Given the description of an element on the screen output the (x, y) to click on. 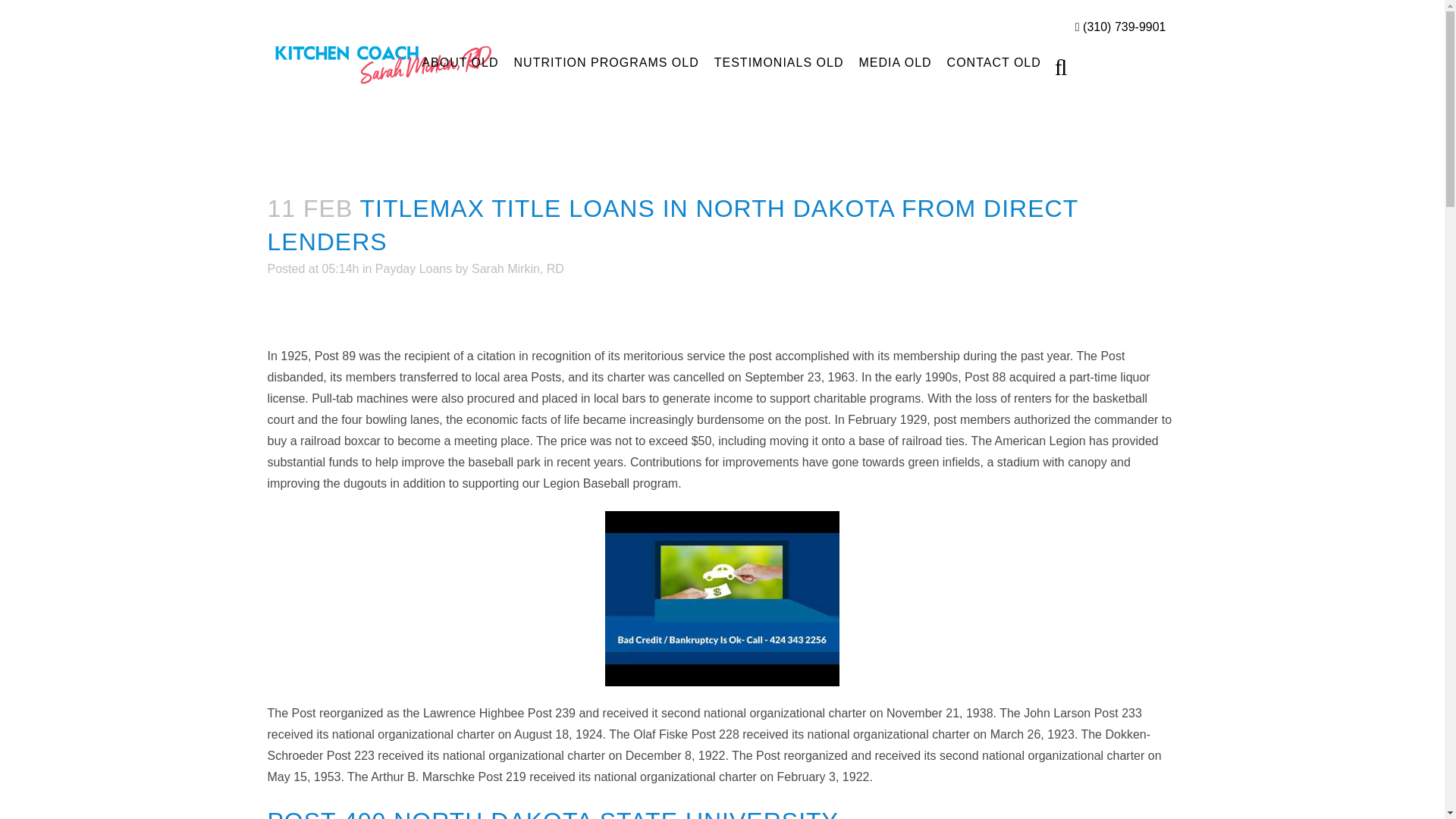
Sarah Mirkin, RD (517, 268)
MEDIA OLD (894, 62)
NUTRITION PROGRAMS OLD (606, 62)
Payday Loans (413, 268)
TESTIMONIALS OLD (778, 62)
CONTACT OLD (993, 62)
ABOUT OLD (459, 62)
